Given the description of an element on the screen output the (x, y) to click on. 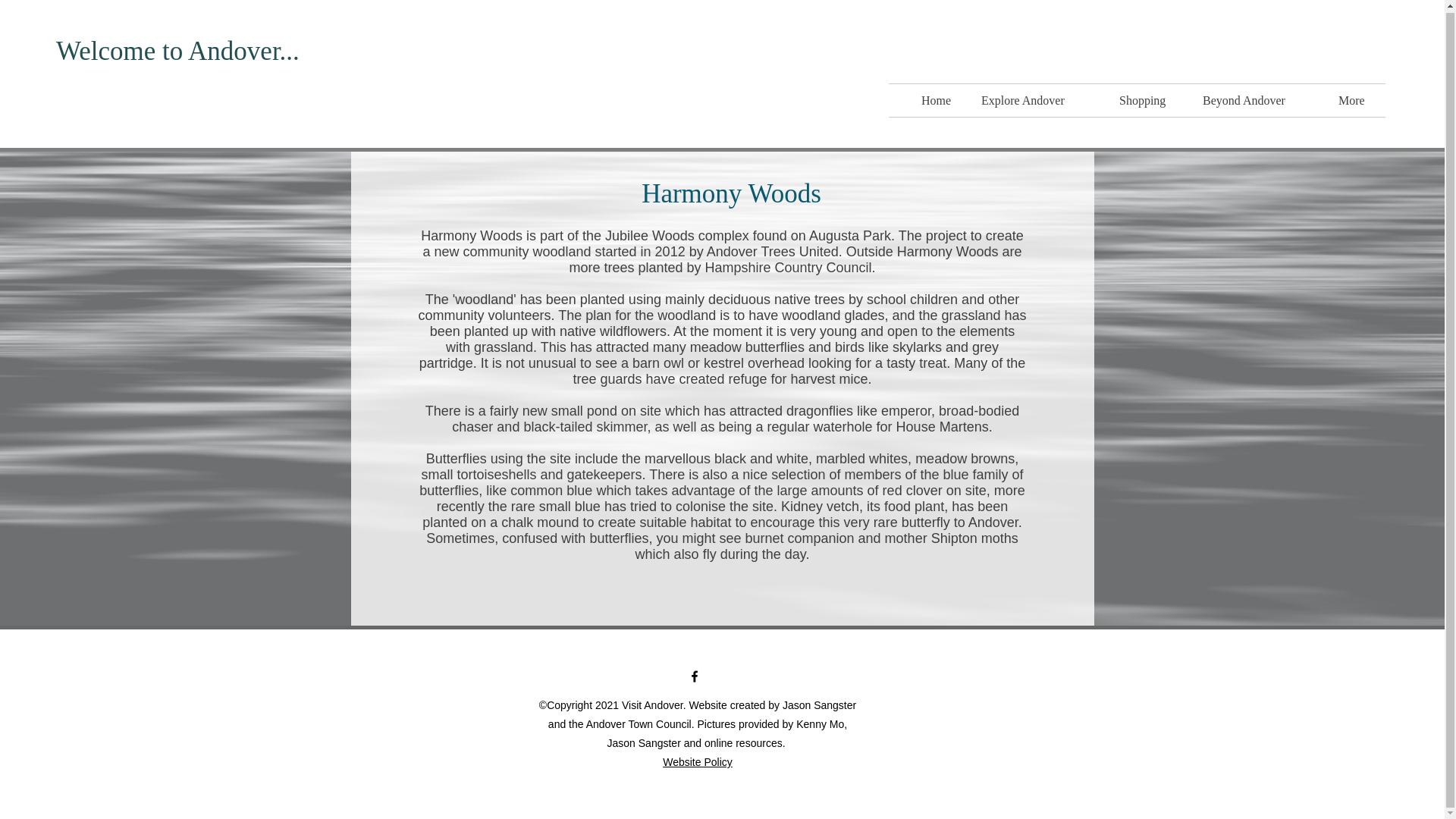
Shopping (1149, 98)
Website Policy (697, 761)
Home (939, 98)
Beyond Andover (1258, 98)
Explore Andover (1038, 98)
